Given the description of an element on the screen output the (x, y) to click on. 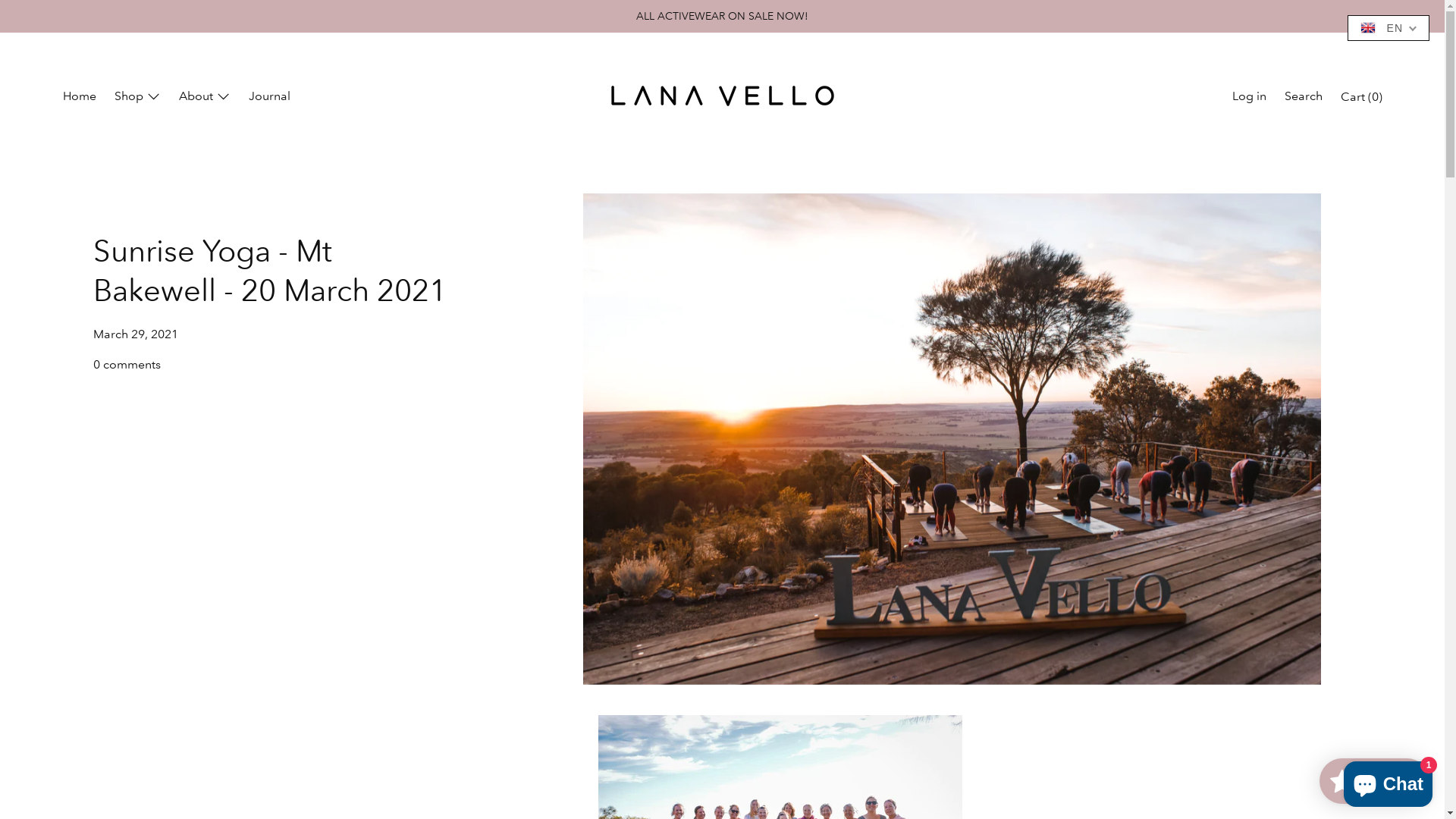
Journal Element type: text (269, 97)
Search Element type: text (1303, 97)
0 comments Element type: text (126, 364)
Shopify online store chat Element type: hover (1388, 780)
About Element type: text (204, 97)
Shop Element type: text (136, 97)
Home Element type: text (78, 97)
Log in Element type: text (1248, 97)
Cart (0) Element type: text (1361, 97)
